Given the description of an element on the screen output the (x, y) to click on. 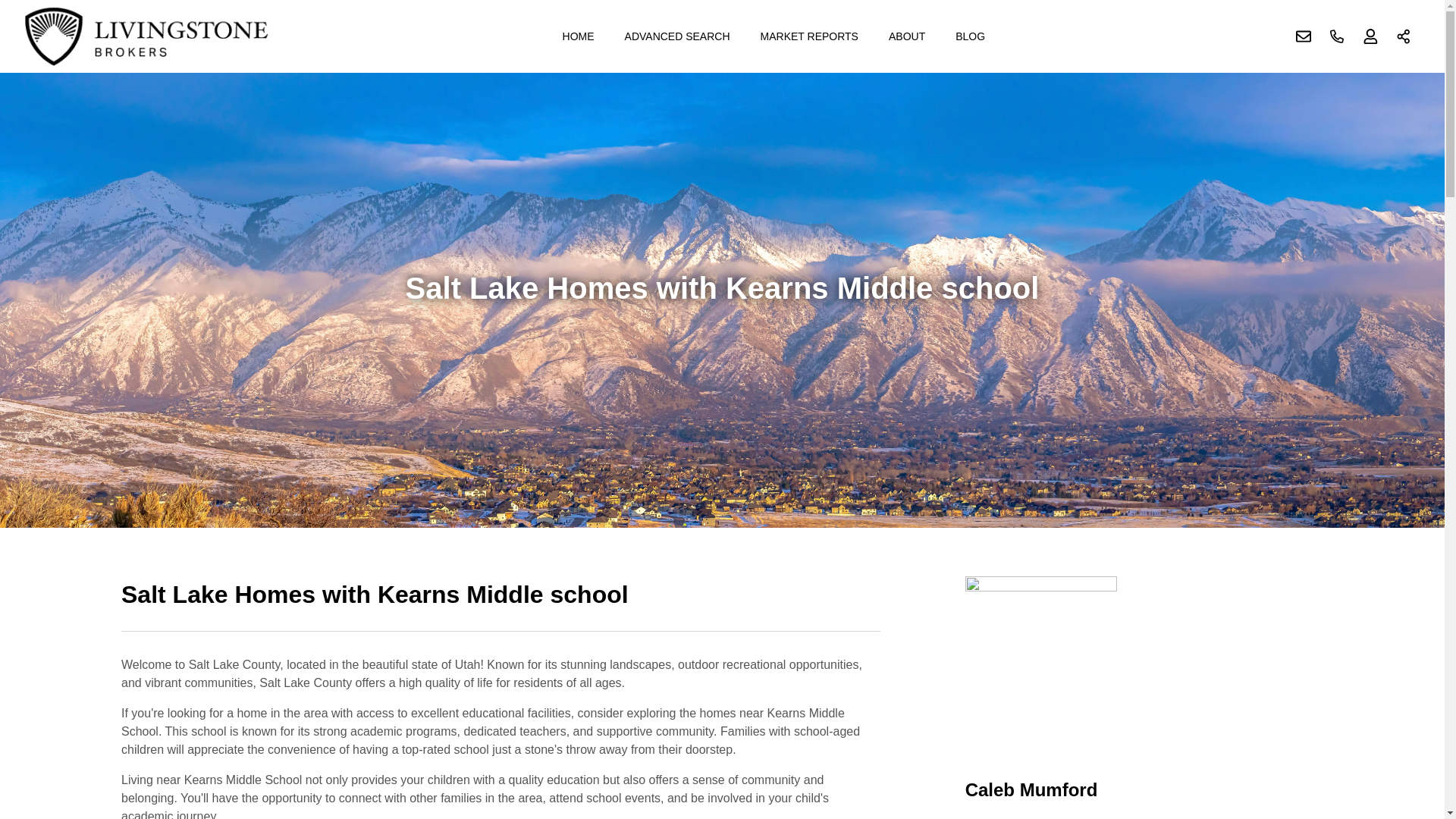
Share (1404, 36)
ADVANCED SEARCH (677, 36)
Sign up or Sign in (1370, 36)
Contact us (1303, 36)
Livingutah.com (146, 35)
Salt Lake Homes with Kearns Middle school (500, 603)
Phone number (1337, 36)
MARKET REPORTS (809, 36)
